Given the description of an element on the screen output the (x, y) to click on. 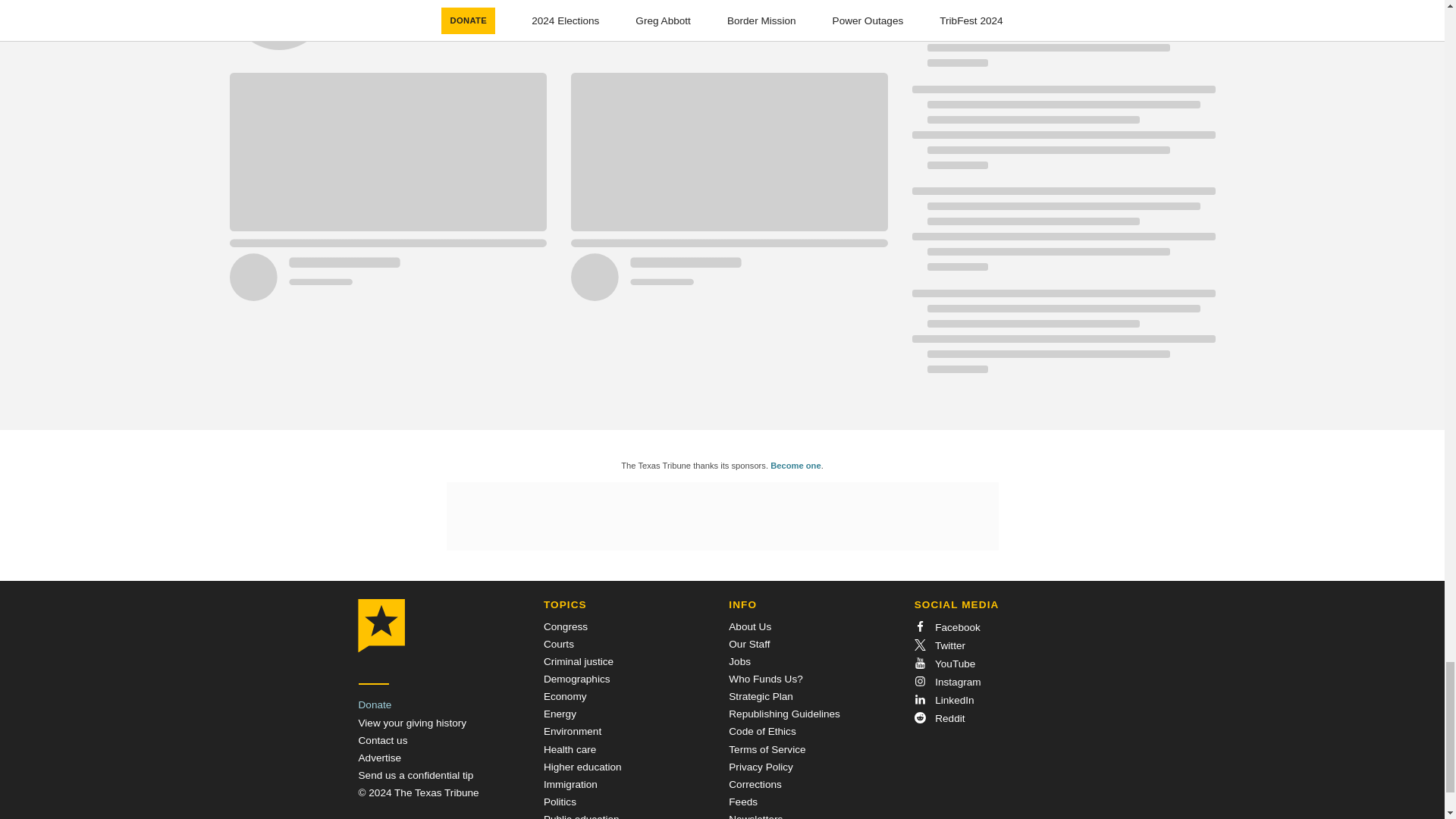
View your giving history (411, 722)
Loading indicator (557, 34)
Who Funds Us? (765, 678)
Corrections (755, 784)
Privacy Policy (761, 767)
Advertise (379, 757)
Terms of Service (767, 749)
Contact us (382, 740)
About Us (750, 626)
Republishing Guidelines (784, 713)
Send a Tip (415, 775)
Newsletters (756, 816)
Code of Ethics (761, 731)
Donate (374, 704)
Strategic Plan (761, 696)
